Given the description of an element on the screen output the (x, y) to click on. 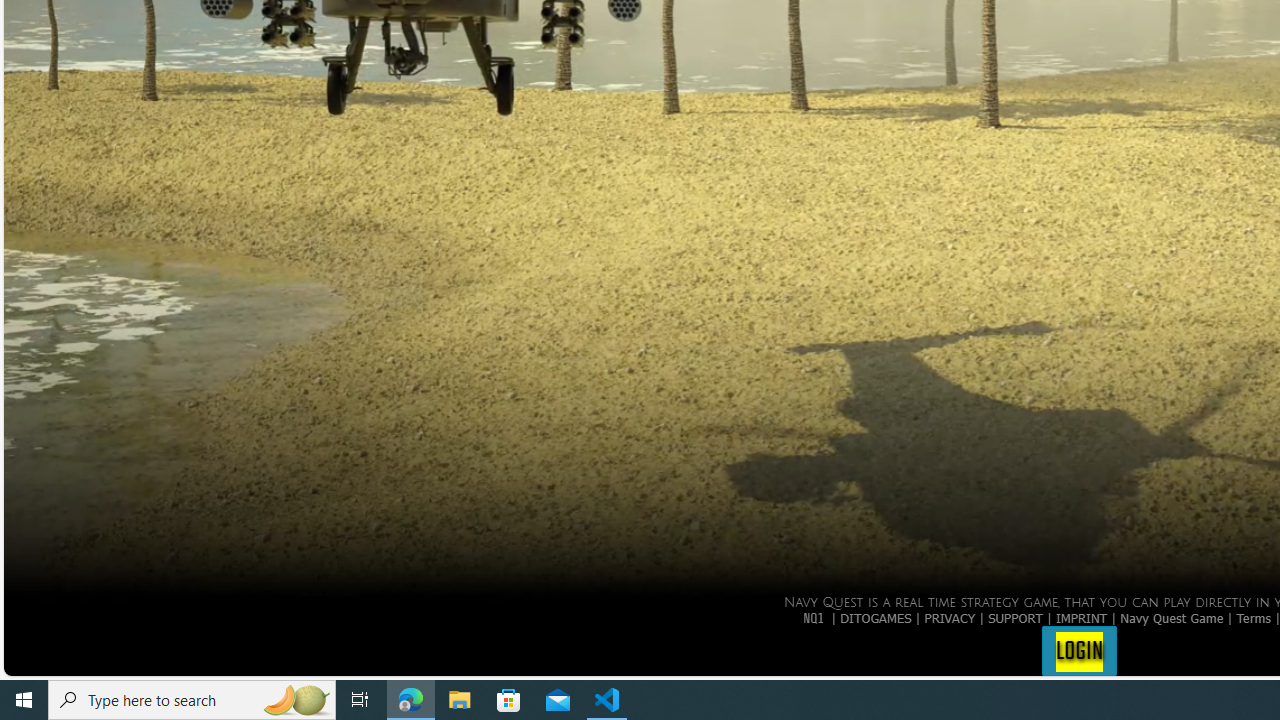
Terms (1254, 617)
Type here to search (191, 699)
Microsoft Store (509, 699)
Visual Studio Code - 1 running window (607, 699)
LOGIN (1079, 650)
IMPRINT (1081, 617)
Task View (359, 699)
Microsoft Edge - 1 running window (411, 699)
Search highlights icon opens search home window (295, 699)
SUPPORT (1015, 617)
PRIVACY (949, 617)
Navy Quest Game (1171, 617)
File Explorer (460, 699)
Start (24, 699)
